Given the description of an element on the screen output the (x, y) to click on. 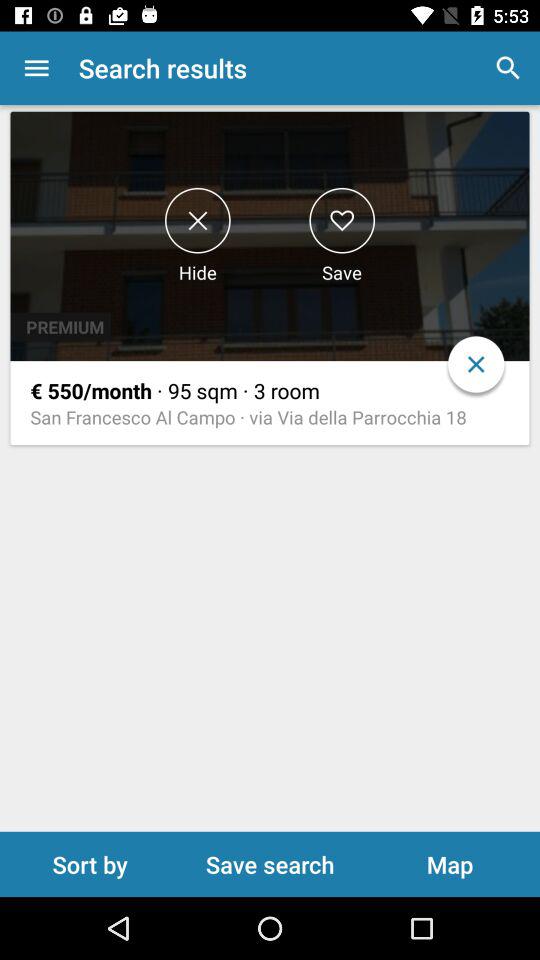
save option (342, 220)
